Given the description of an element on the screen output the (x, y) to click on. 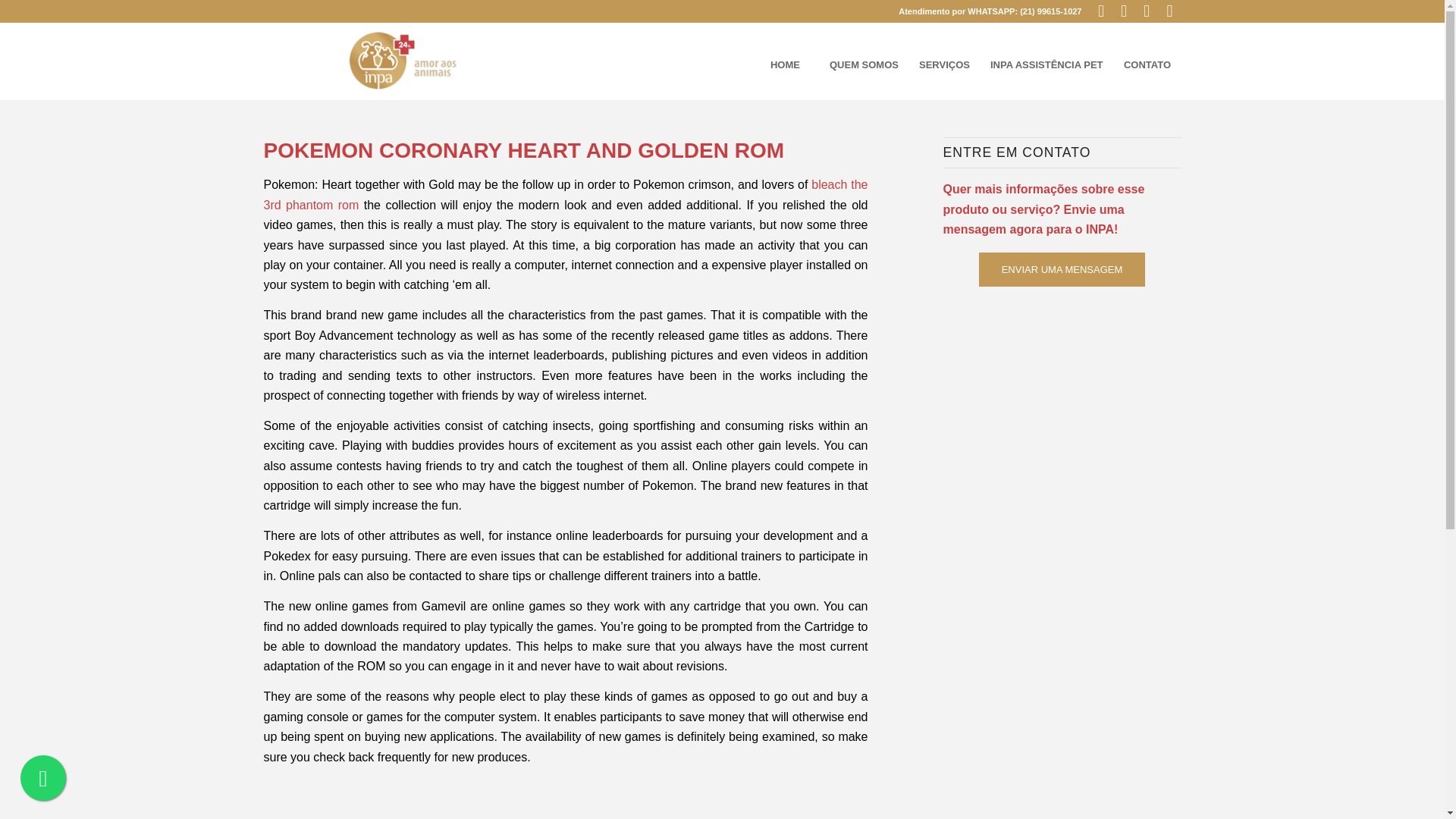
Youtube (1146, 11)
Facebook (1101, 11)
Link permanente: Pokemon Coronary heart And Golden Rom (523, 150)
Instagram (1169, 11)
Twitter (1124, 11)
HOME (784, 65)
QUEM SOMOS (863, 65)
